Given the description of an element on the screen output the (x, y) to click on. 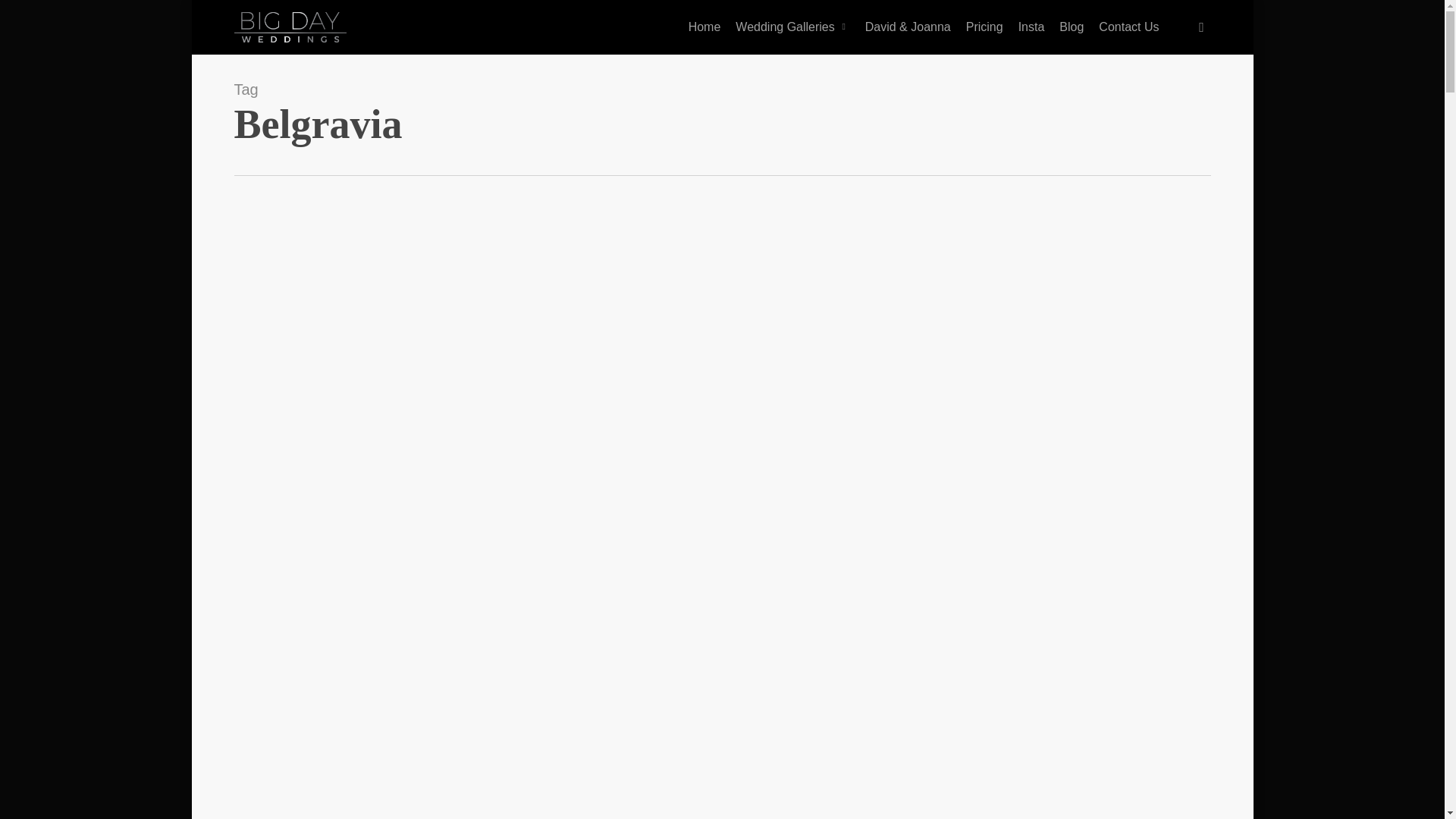
Blog (1070, 27)
Insta (1031, 27)
Pricing (984, 27)
search (1200, 27)
Contact Us (1128, 27)
Home (705, 27)
Wedding Galleries (792, 27)
